Given the description of an element on the screen output the (x, y) to click on. 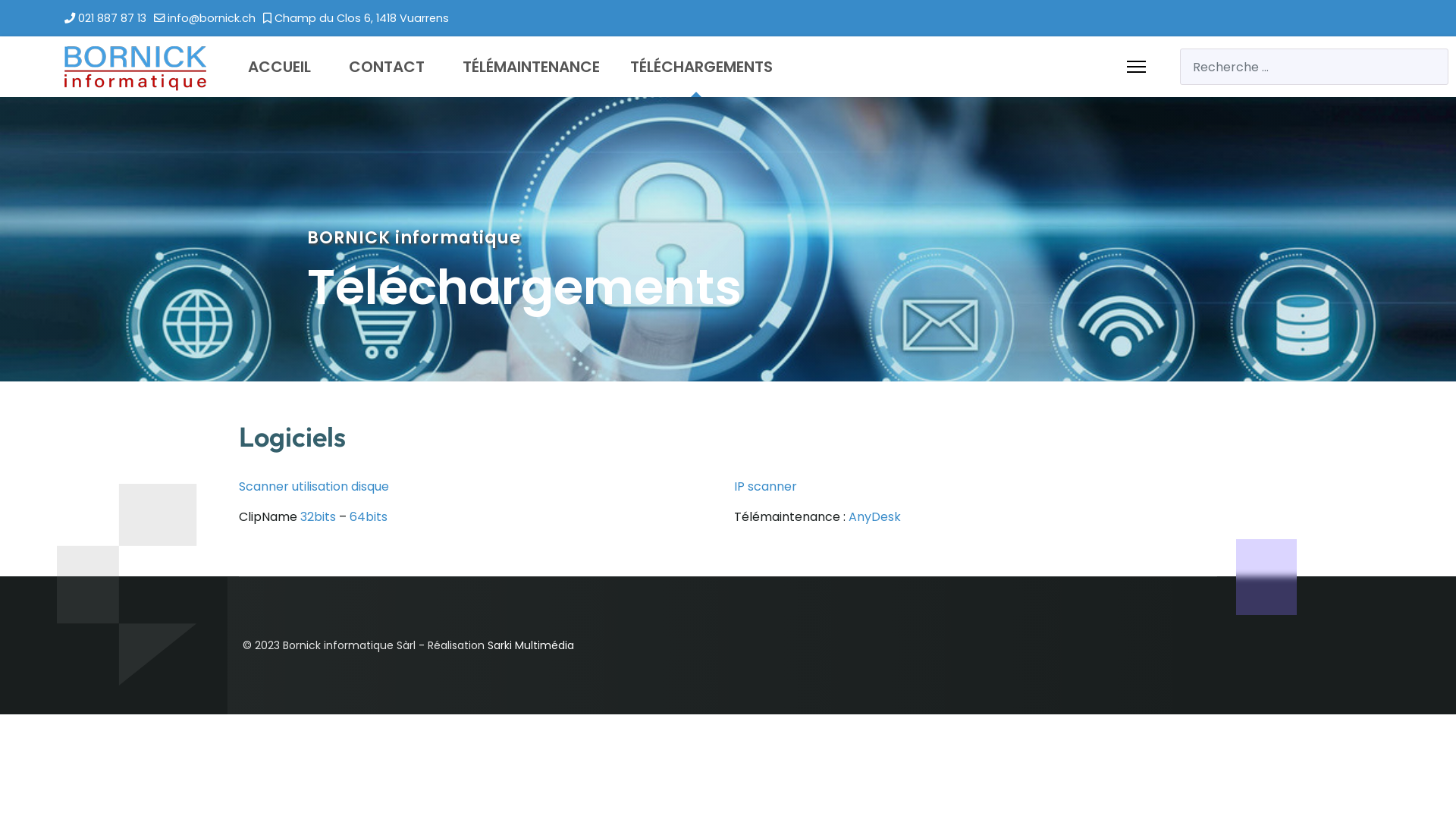
ACCUEIL Element type: text (279, 66)
AnyDesk Element type: text (874, 516)
CONTACT Element type: text (386, 66)
021 887 87 13 Element type: text (112, 17)
32bits Element type: text (317, 516)
64bits Element type: text (368, 516)
info@bornick.ch Element type: text (211, 17)
Menu Element type: hover (1135, 66)
IP scanner Element type: text (765, 486)
Scanner utilisation disque Element type: text (313, 486)
